Given the description of an element on the screen output the (x, y) to click on. 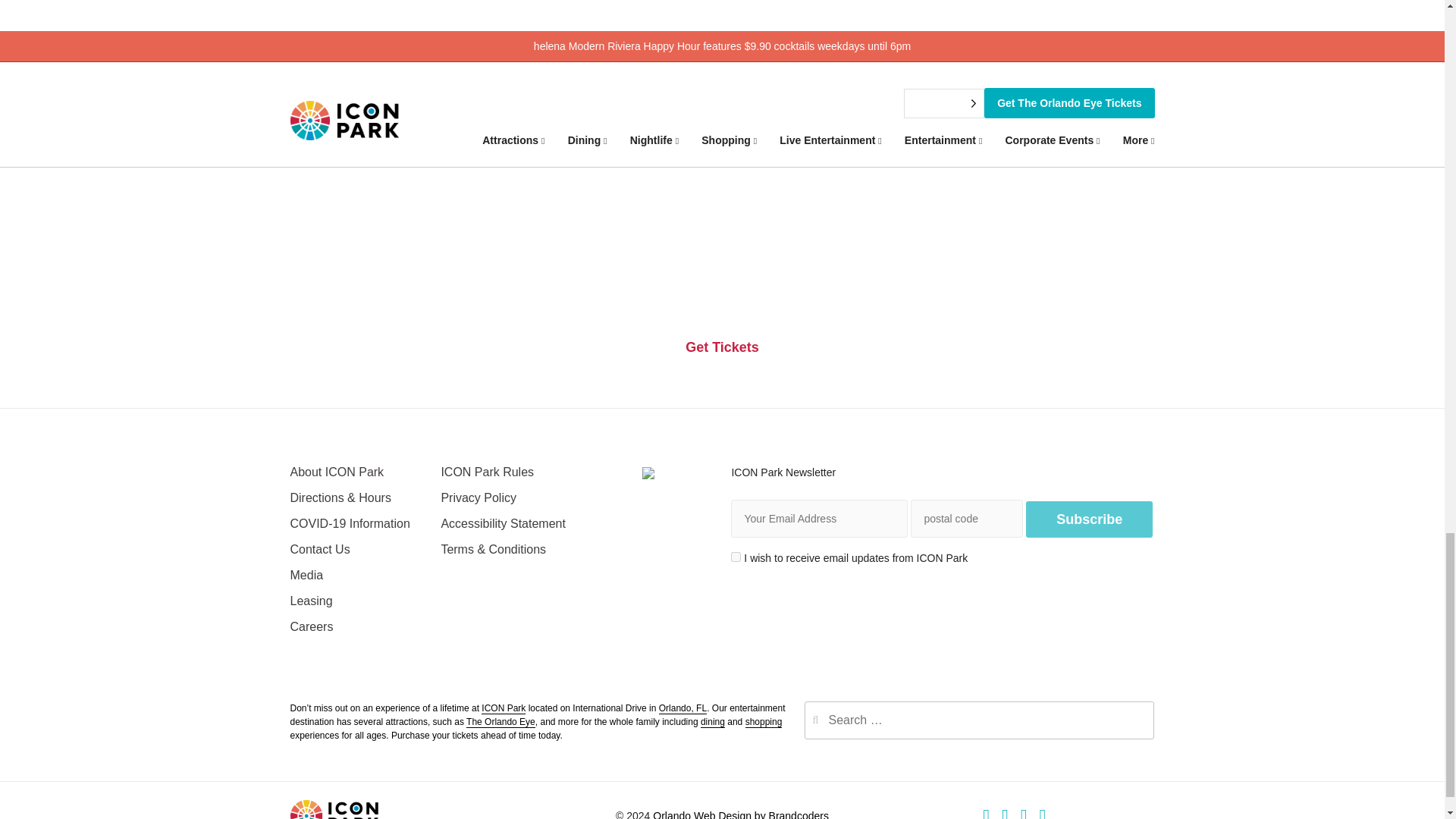
Search (1133, 720)
1 (735, 556)
Search (1133, 720)
Subscribe (1089, 519)
